Given the description of an element on the screen output the (x, y) to click on. 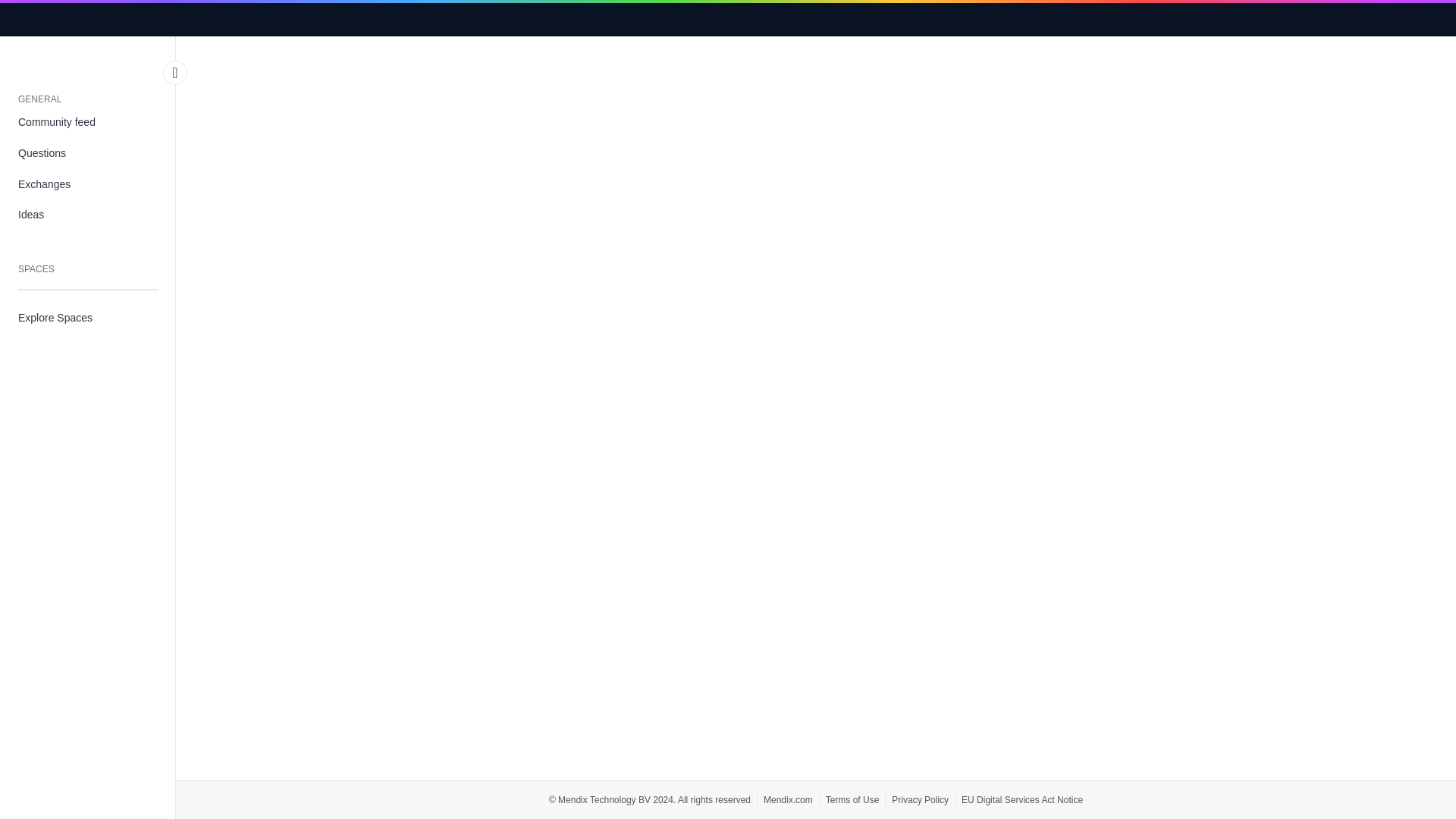
Mendix.com (787, 799)
Exchanges (87, 183)
Explore Spaces (87, 317)
Collapse Menu (175, 72)
EU Digital Services Act Notice (1021, 799)
Ideas (87, 214)
Privacy Policy (920, 799)
Questions (87, 153)
Terms of Use (852, 799)
Community feed (87, 122)
